Given the description of an element on the screen output the (x, y) to click on. 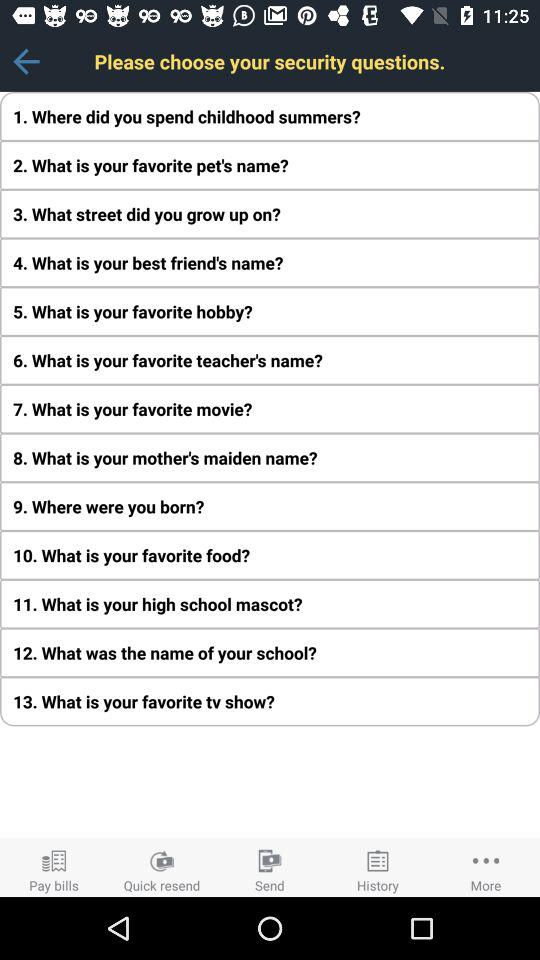
click app above the 1 where did (26, 61)
